Given the description of an element on the screen output the (x, y) to click on. 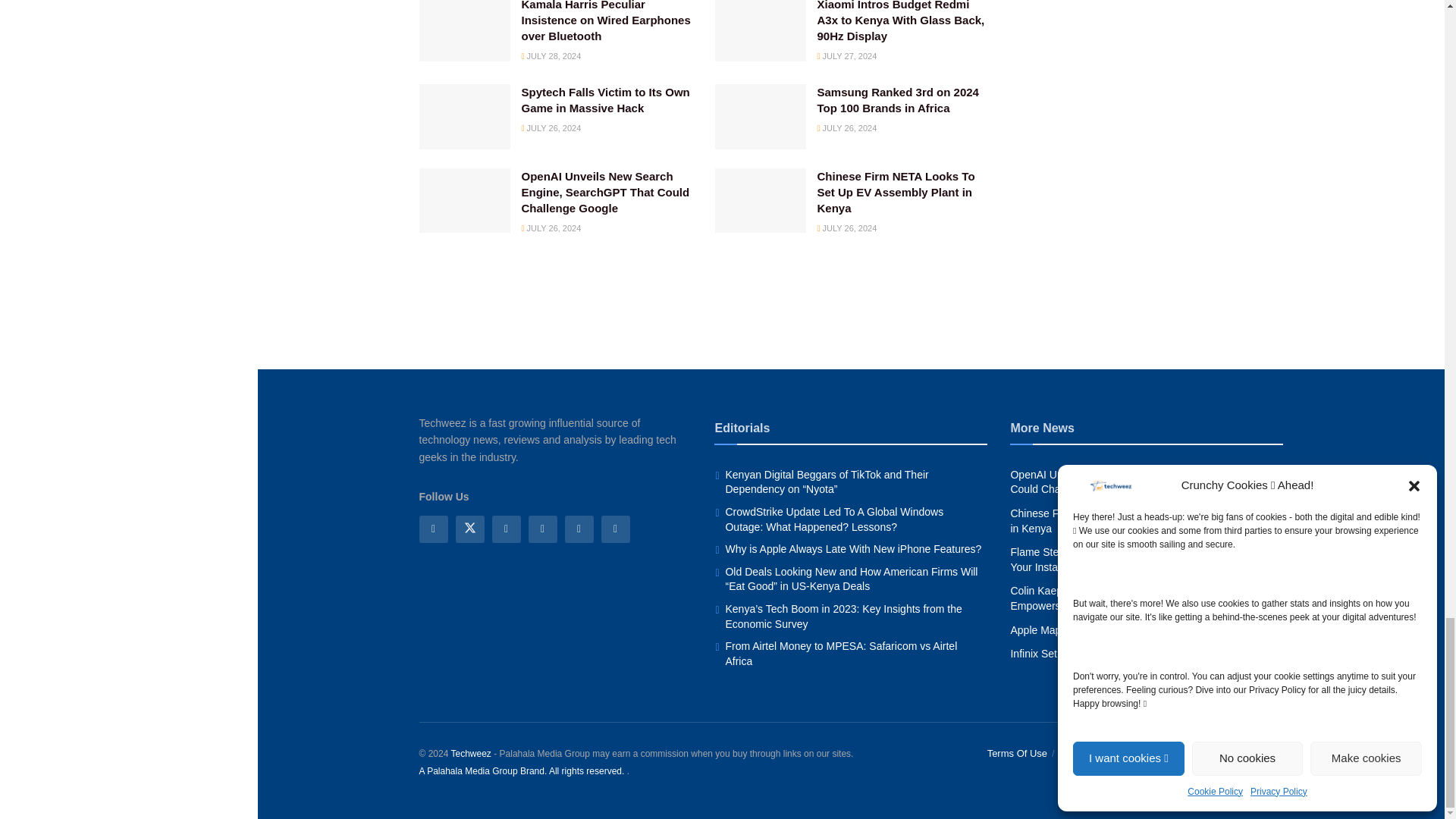
Techweez, a Palahala Media Group Brand. All rights reserved (469, 753)
